Given the description of an element on the screen output the (x, y) to click on. 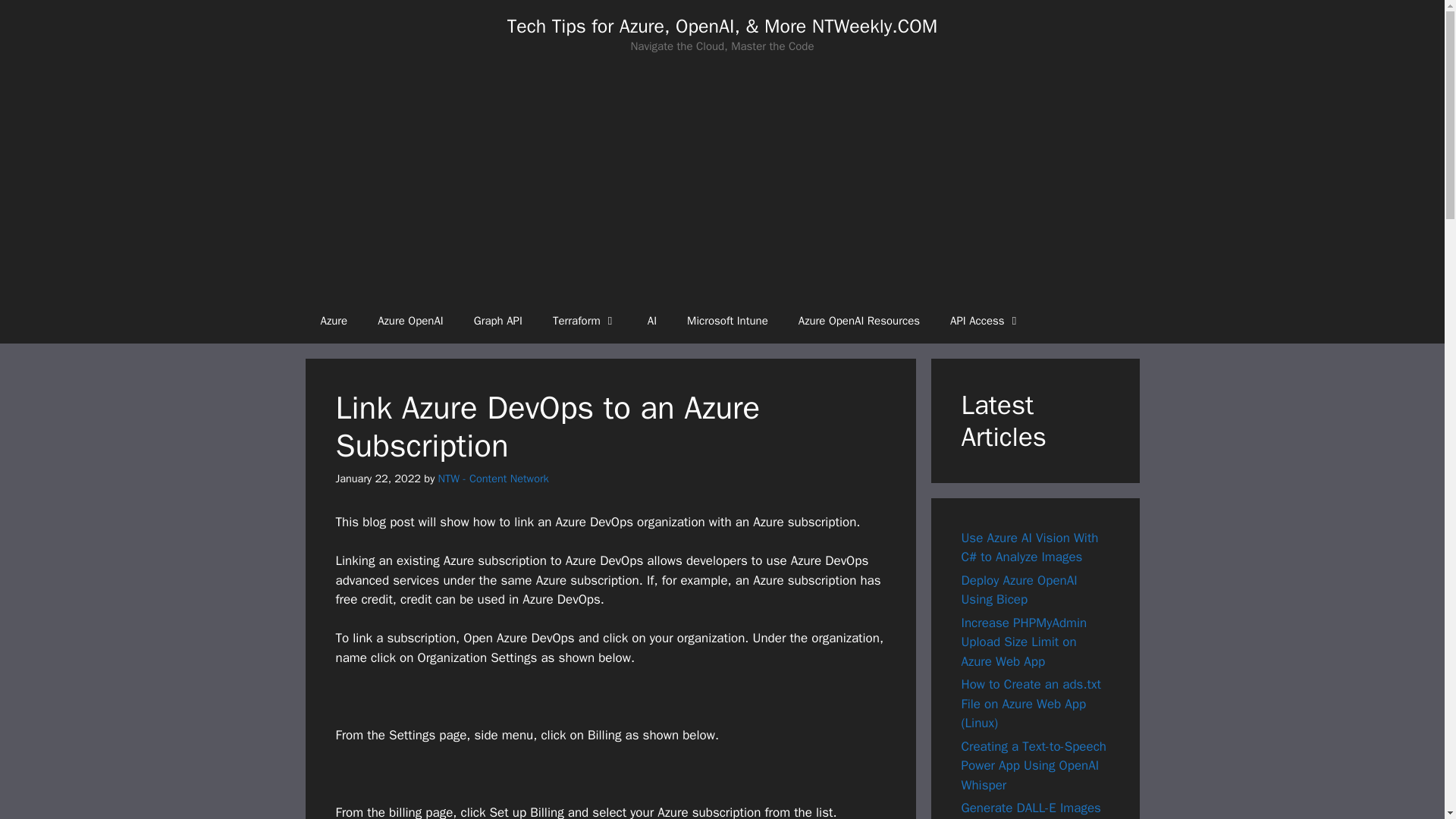
REST API access to Entra, Intune and Azure (985, 320)
Graph API (497, 320)
NTW - Content Network (493, 478)
Microsoft Intune (727, 320)
View all posts by NTW - Content Network (493, 478)
Azure OpenAI (410, 320)
Azure OpenAI Resources (858, 320)
Creating a Text-to-Speech Power App Using OpenAI Whisper (1033, 765)
Increase PHPMyAdmin Upload Size Limit on Azure Web App (1023, 641)
